Given the description of an element on the screen output the (x, y) to click on. 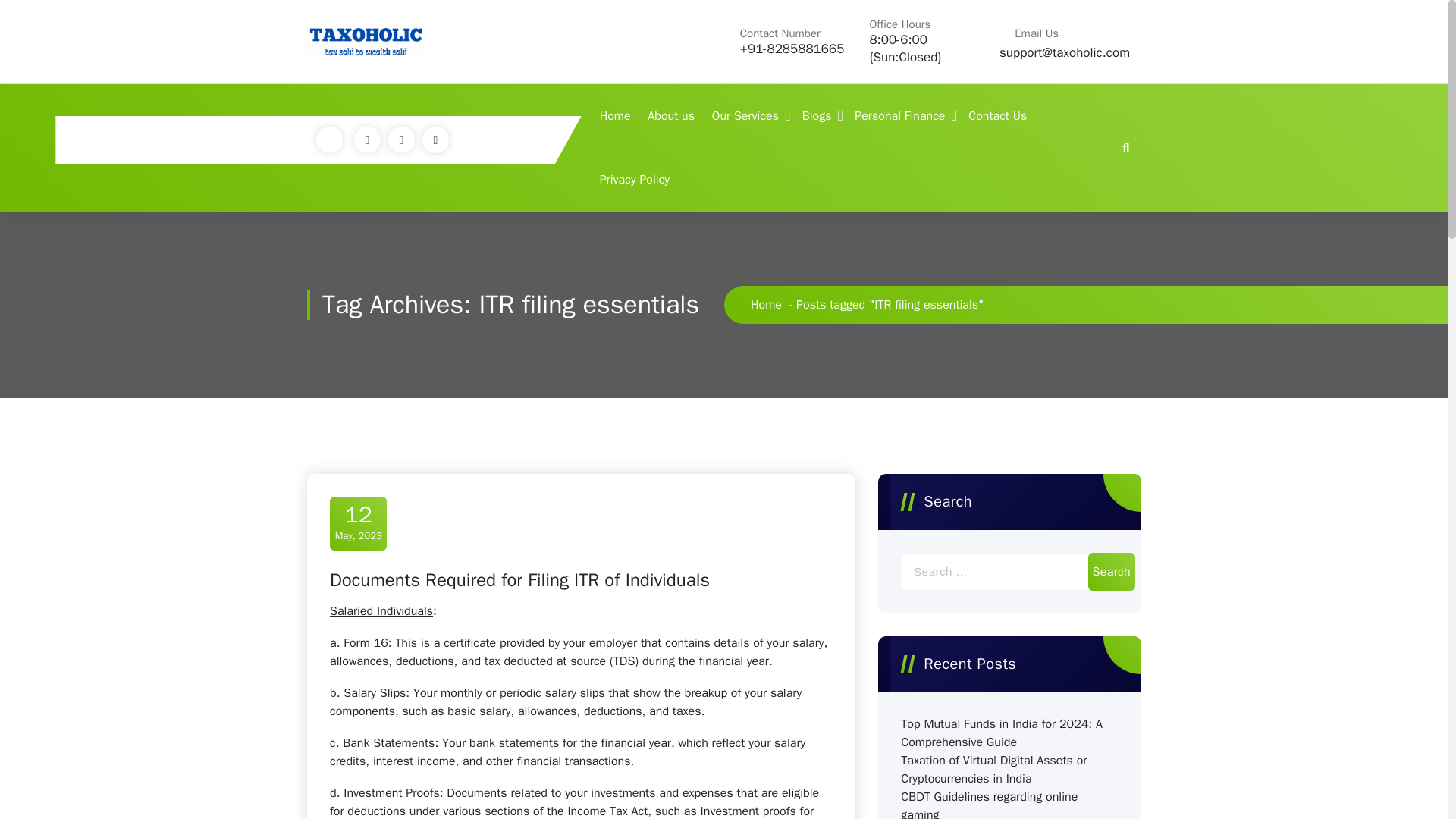
Contact Us (997, 116)
Search (1111, 571)
Search (1111, 571)
Our Services (748, 116)
Our Services (748, 116)
About us (671, 116)
Privacy Policy (634, 179)
Personal Finance (902, 116)
About us (671, 116)
